Given the description of an element on the screen output the (x, y) to click on. 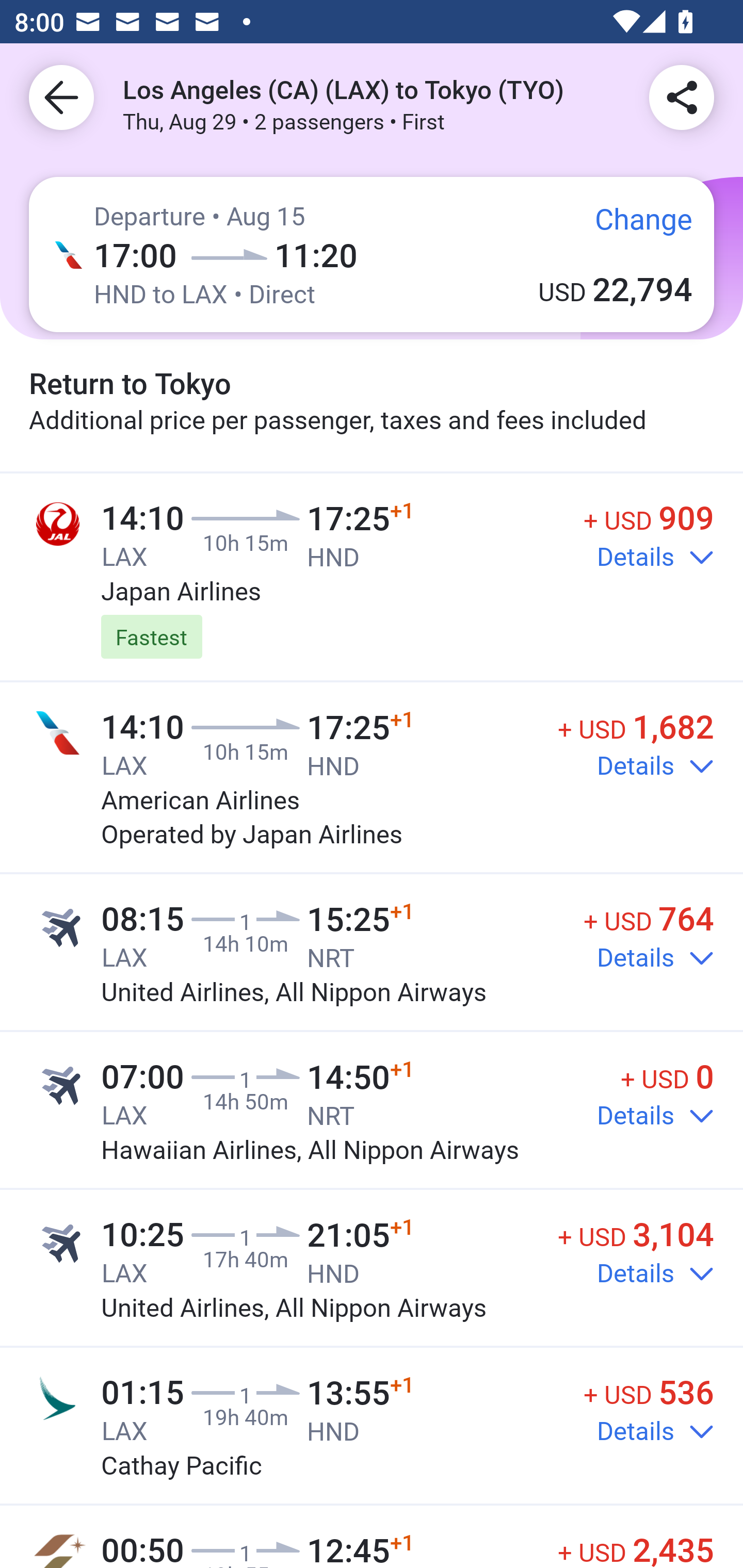
Change (629, 225)
